Given the description of an element on the screen output the (x, y) to click on. 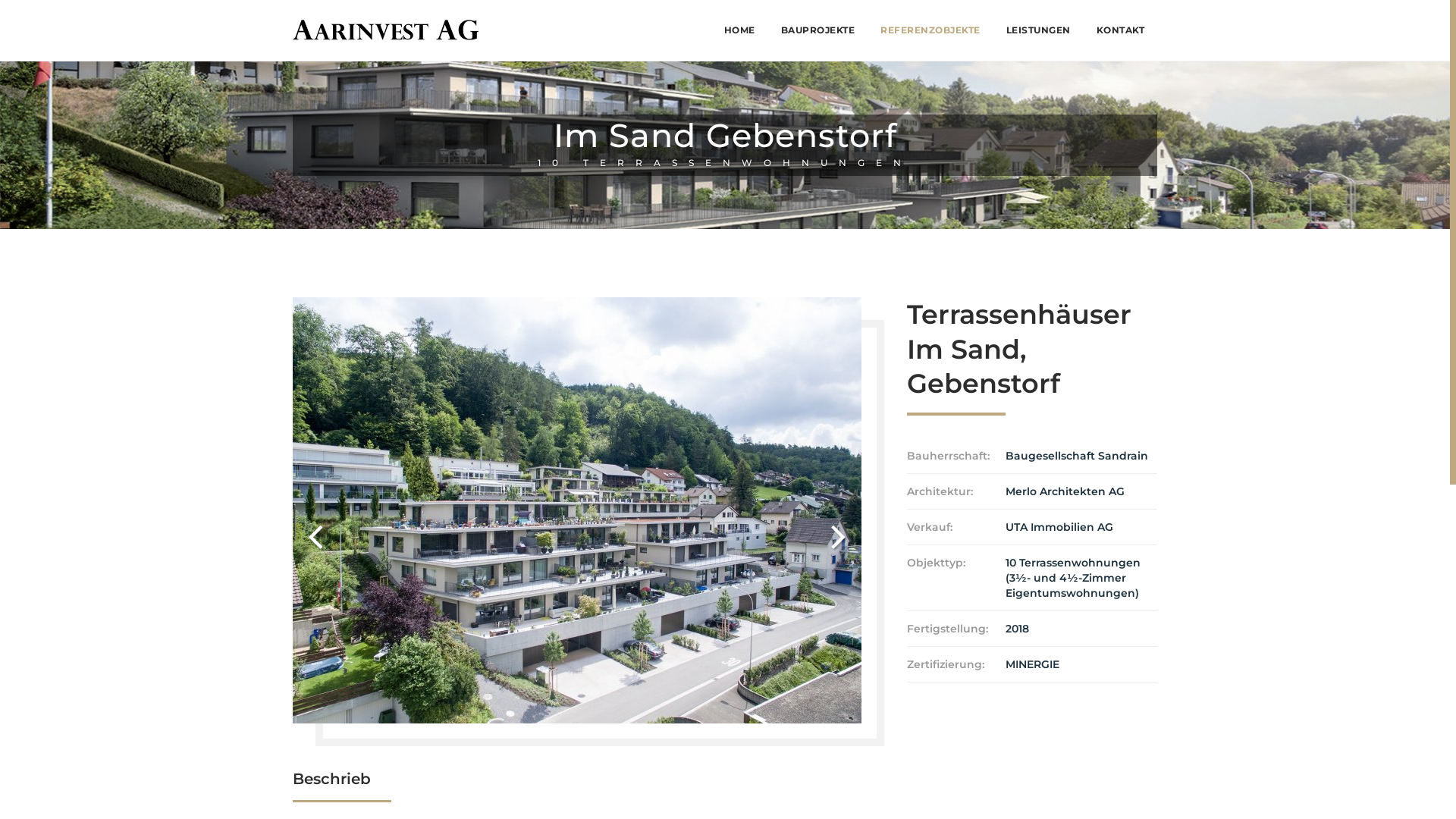
REFERENZOBJEKTE Element type: text (930, 30)
Aarinvest AG Element type: hover (385, 30)
KONTAKT Element type: text (1119, 30)
HOME Element type: text (739, 30)
LEISTUNGEN Element type: text (1038, 30)
BAUPROJEKTE Element type: text (817, 30)
